Given the description of an element on the screen output the (x, y) to click on. 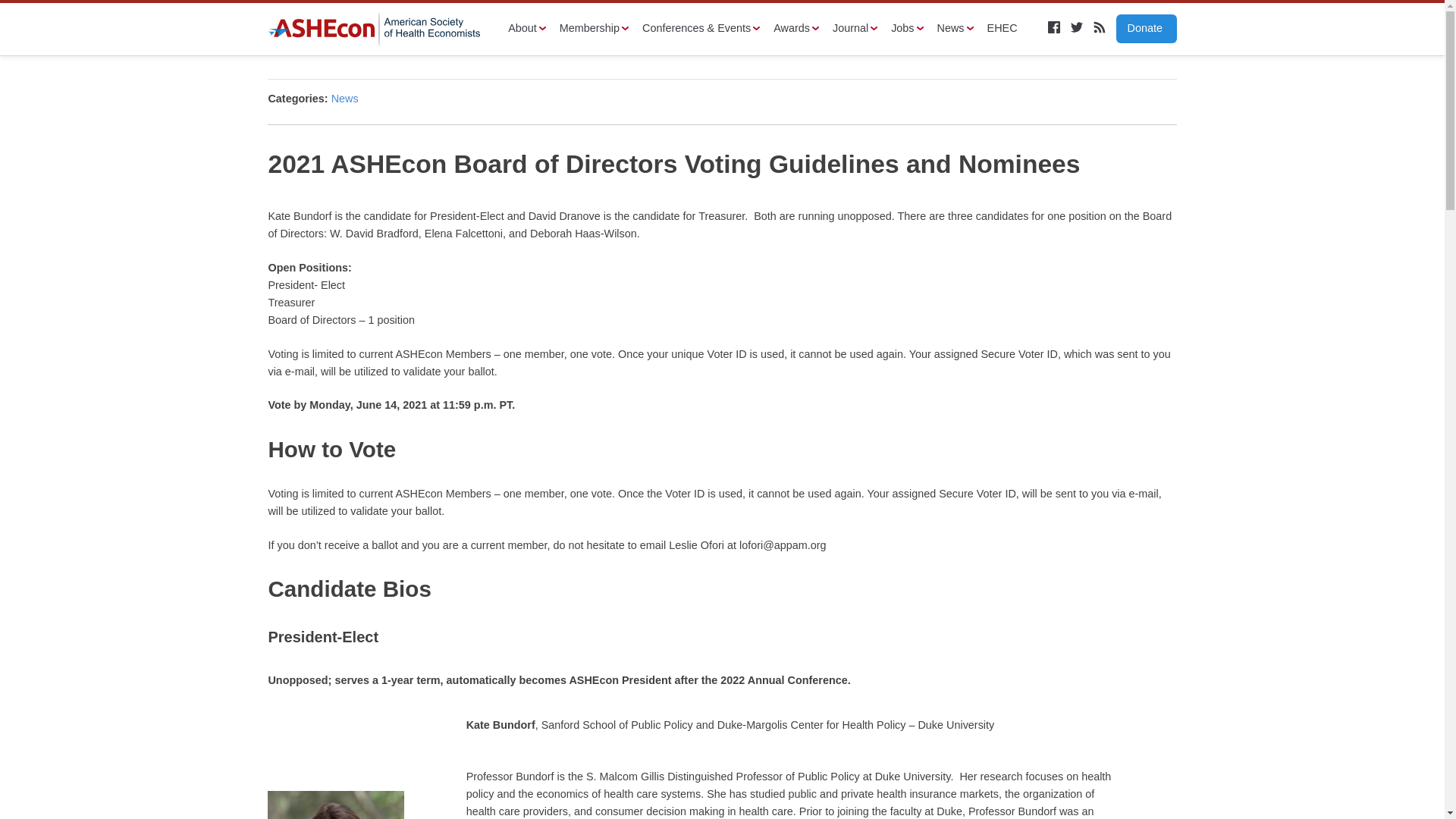
Membership (593, 28)
Journal (854, 28)
Jobs (907, 28)
EHEC (1006, 28)
American Journal of Health Economics (854, 28)
Facebook (1053, 27)
About (527, 28)
Twitter (1076, 27)
Awards (795, 28)
News (955, 28)
